Given the description of an element on the screen output the (x, y) to click on. 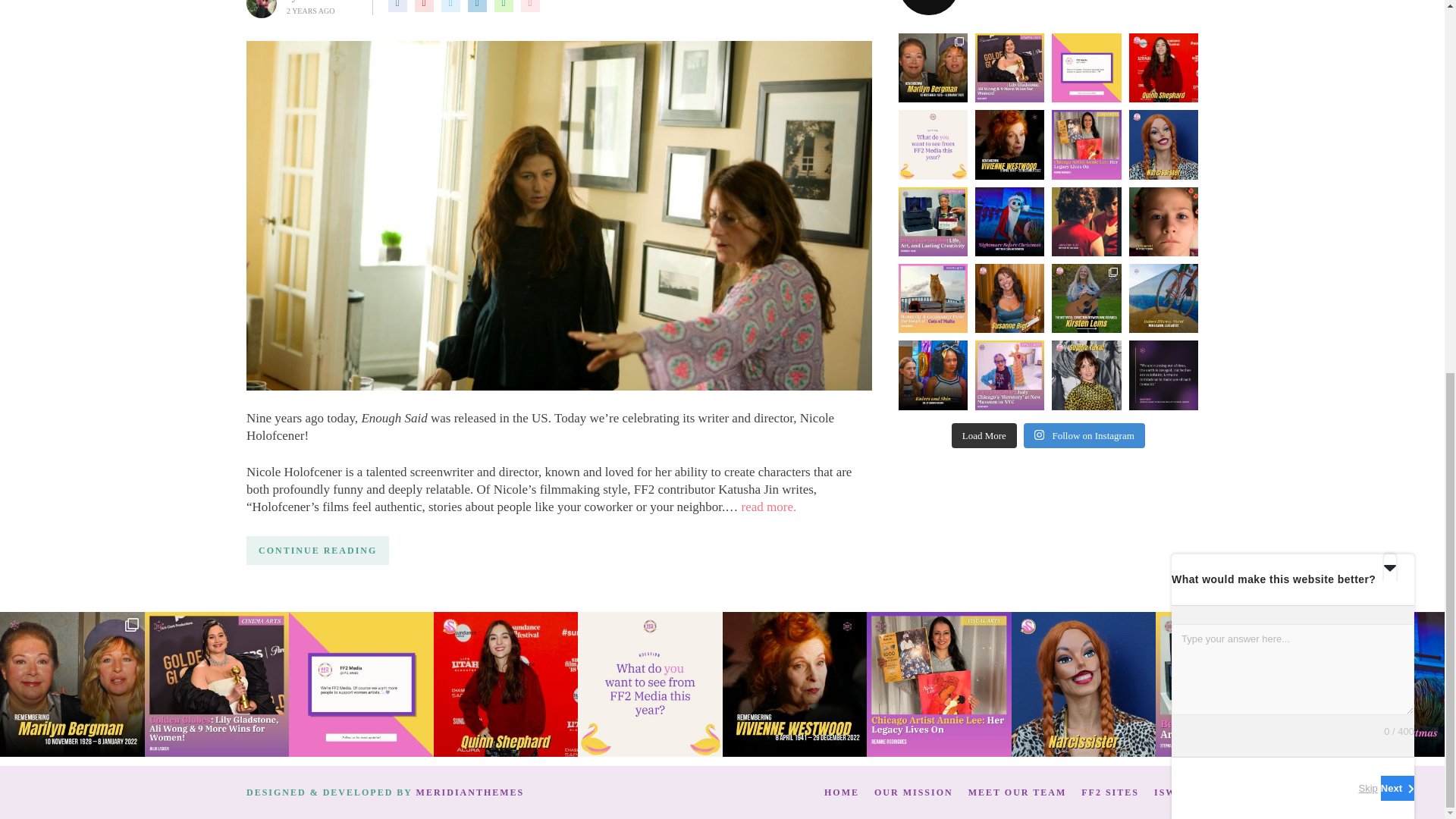
ff2media (1048, 7)
Julia Lasker (327, 1)
CONTINUE READING (317, 550)
read more. (768, 506)
Posts by Julia Lasker (327, 1)
